Given the description of an element on the screen output the (x, y) to click on. 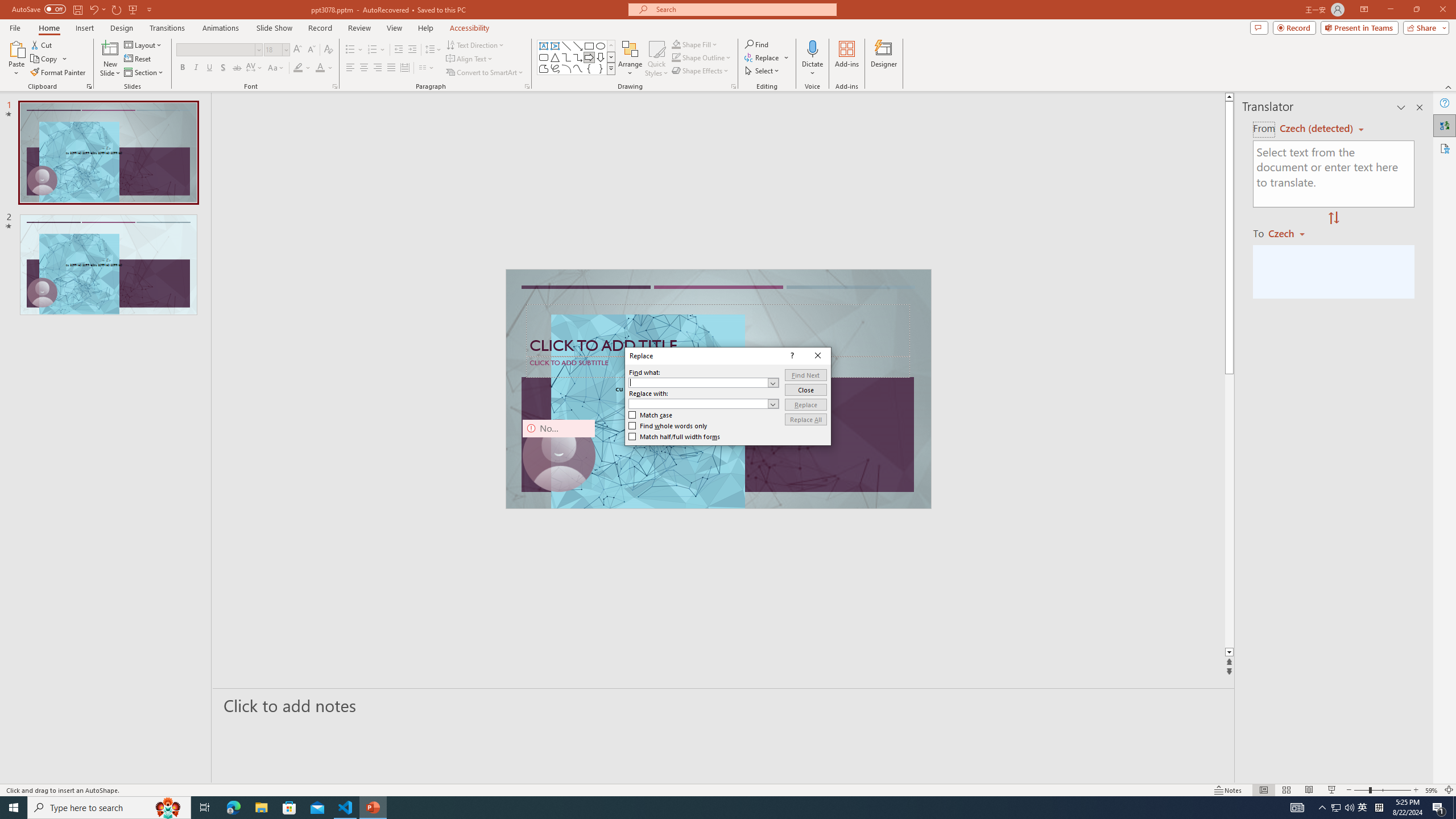
Zoom 59% (1431, 790)
Shape Outline (701, 56)
Arc (566, 68)
Oval (600, 45)
Align Text (470, 58)
Office Clipboard... (88, 85)
Columns (426, 67)
Isosceles Triangle (554, 57)
